Given the description of an element on the screen output the (x, y) to click on. 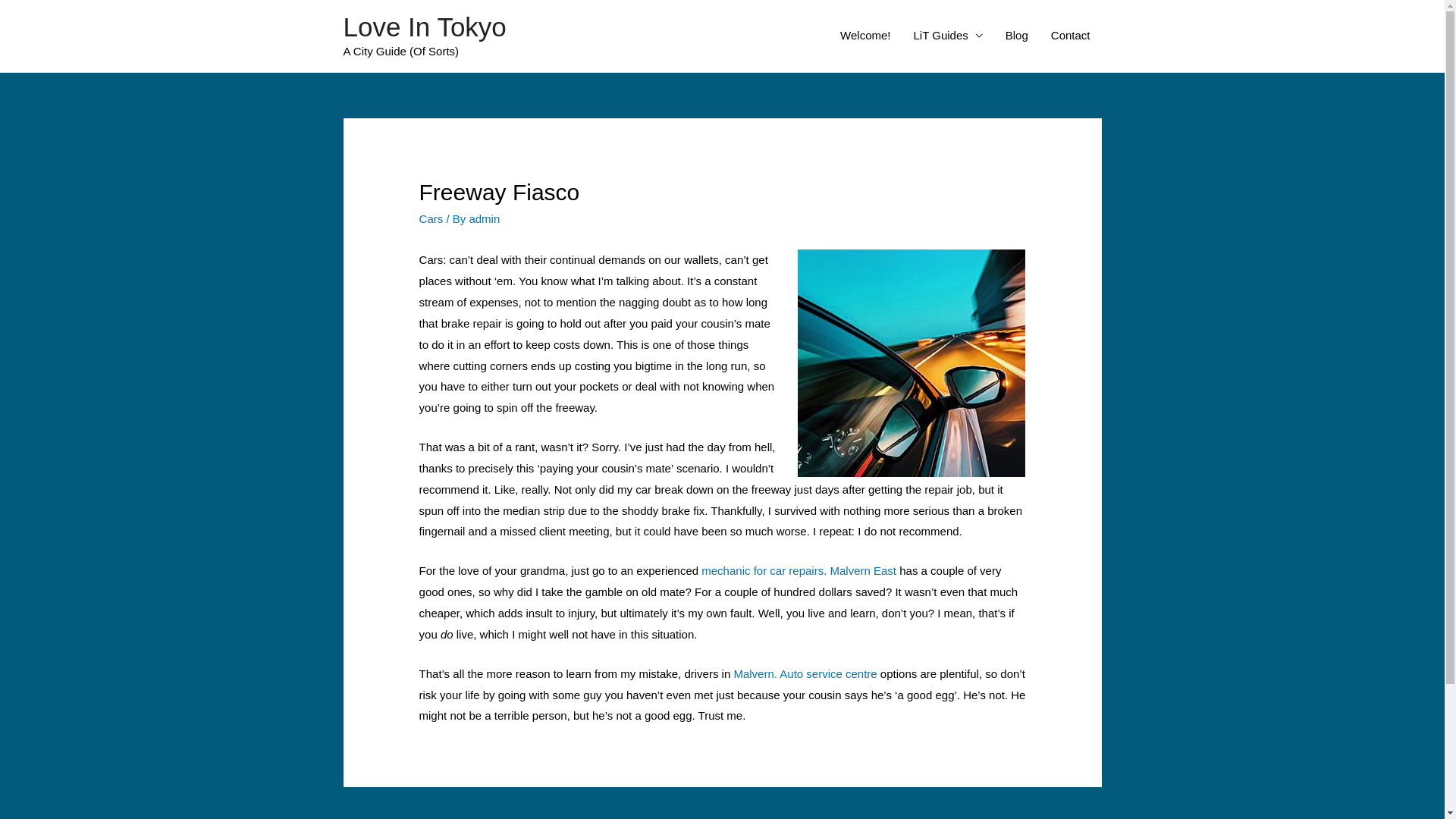
Love In Tokyo Element type: text (423, 26)
Blog Element type: text (1016, 35)
admin Element type: text (483, 218)
Cars Element type: text (431, 218)
Malvern. Auto service centre Element type: text (804, 673)
mechanic for car repairs. Malvern East Element type: text (798, 570)
Contact Element type: text (1070, 35)
Welcome! Element type: text (864, 35)
LiT Guides Element type: text (948, 35)
